Given the description of an element on the screen output the (x, y) to click on. 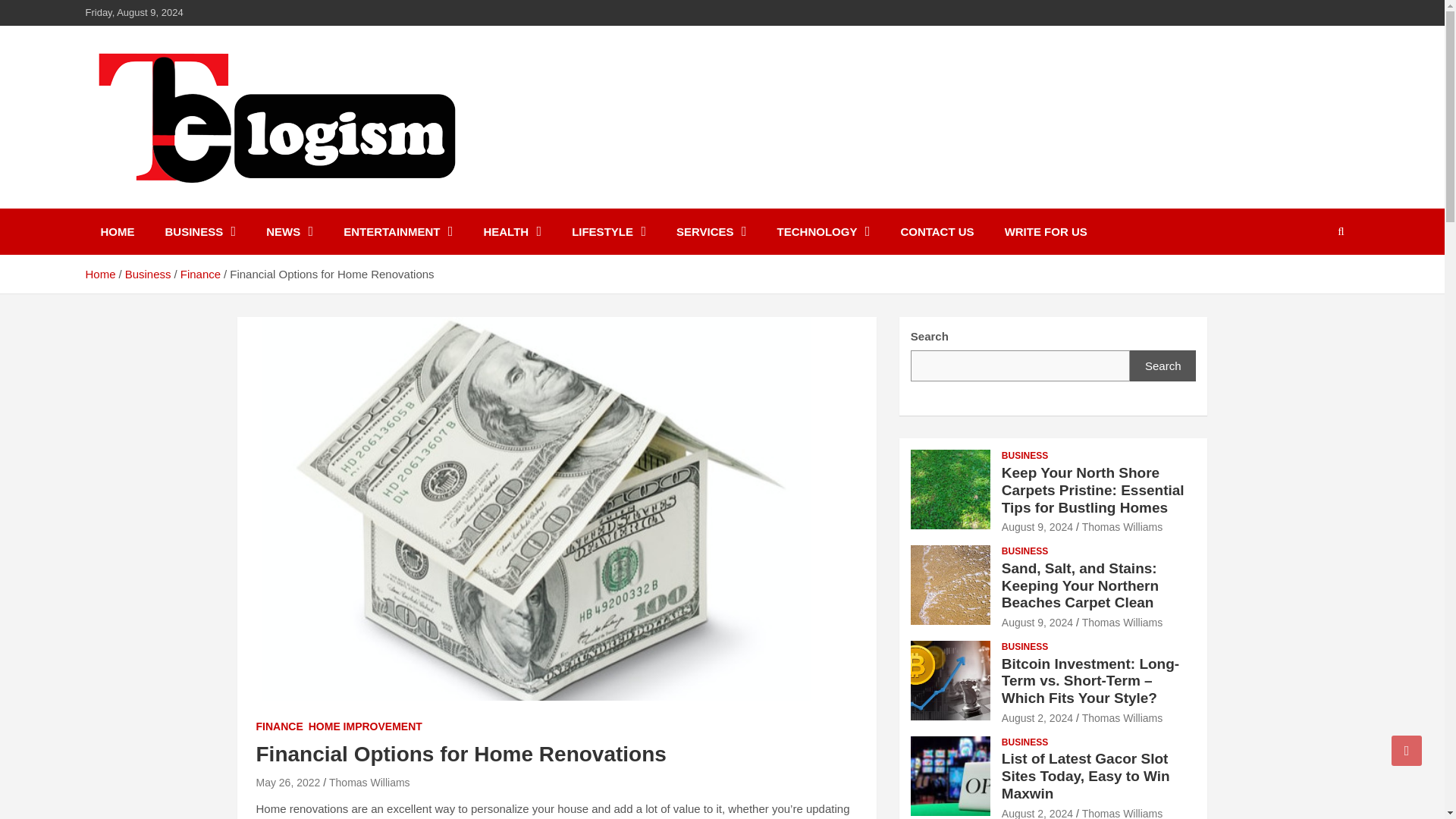
TECHNOLOGY (823, 231)
HEALTH (511, 231)
LIFESTYLE (608, 231)
Go to Top (1406, 750)
BUSINESS (200, 231)
NEWS (289, 231)
ENTERTAINMENT (398, 231)
List of Latest Gacor Slot Sites Today, Easy to Win Maxwin (1037, 813)
The Blogism (175, 205)
